Given the description of an element on the screen output the (x, y) to click on. 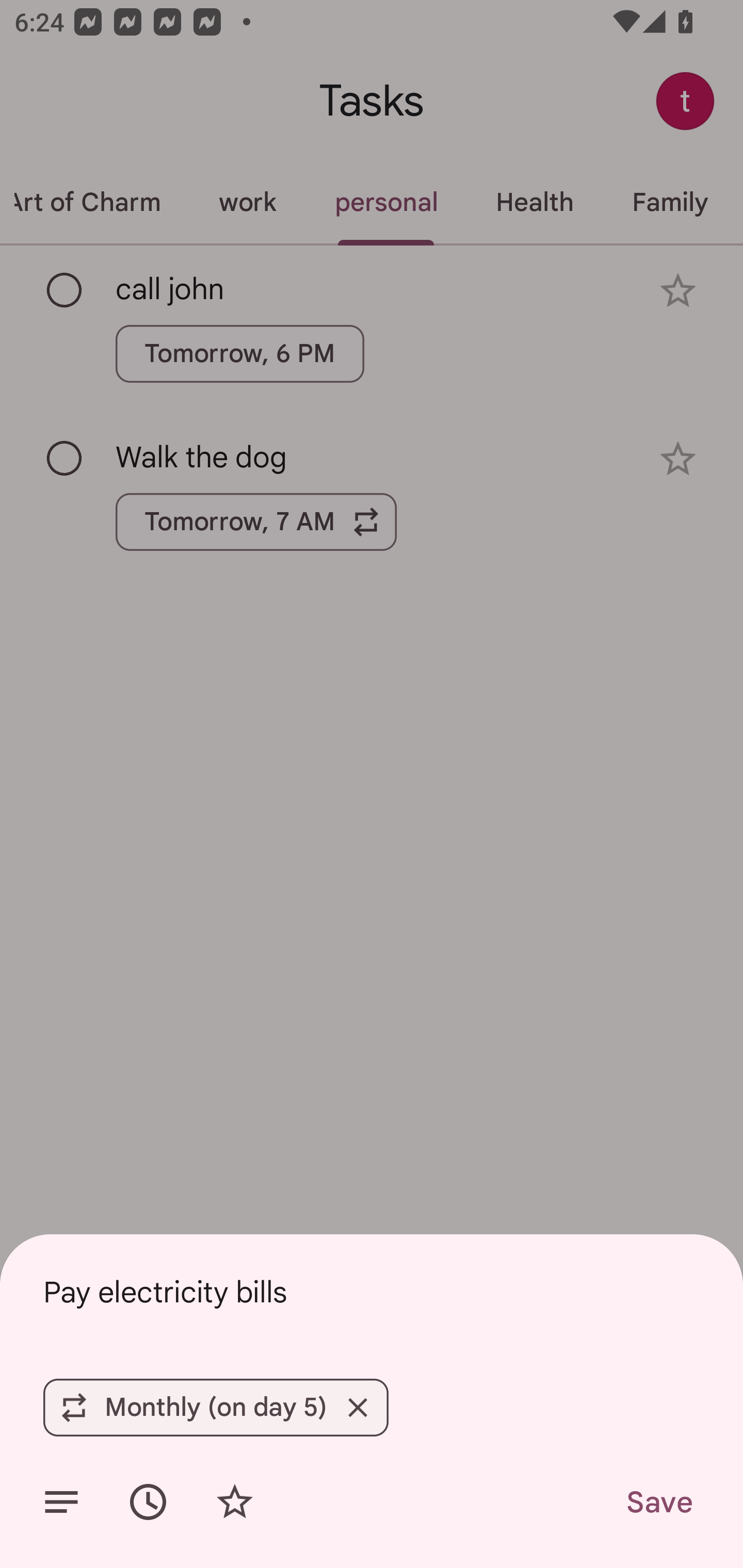
Pay electricity bills (371, 1291)
Monthly (on day 5) Remove Monthly (on day 5) (215, 1407)
Save (659, 1501)
Add details (60, 1501)
Set date/time (147, 1501)
Add star (234, 1501)
